Given the description of an element on the screen output the (x, y) to click on. 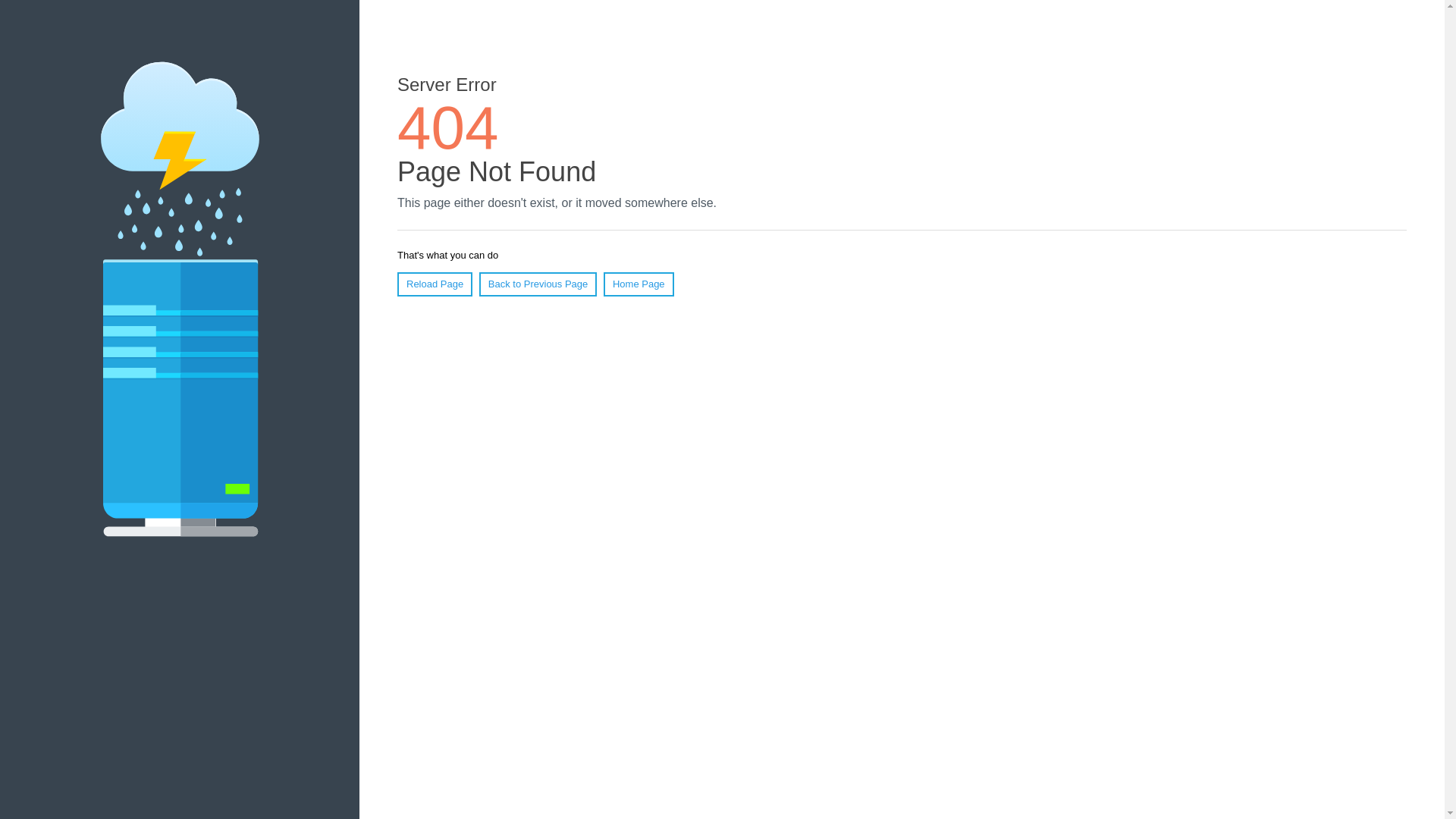
Back to Previous Page Element type: text (538, 284)
Reload Page Element type: text (434, 284)
Home Page Element type: text (638, 284)
